Given the description of an element on the screen output the (x, y) to click on. 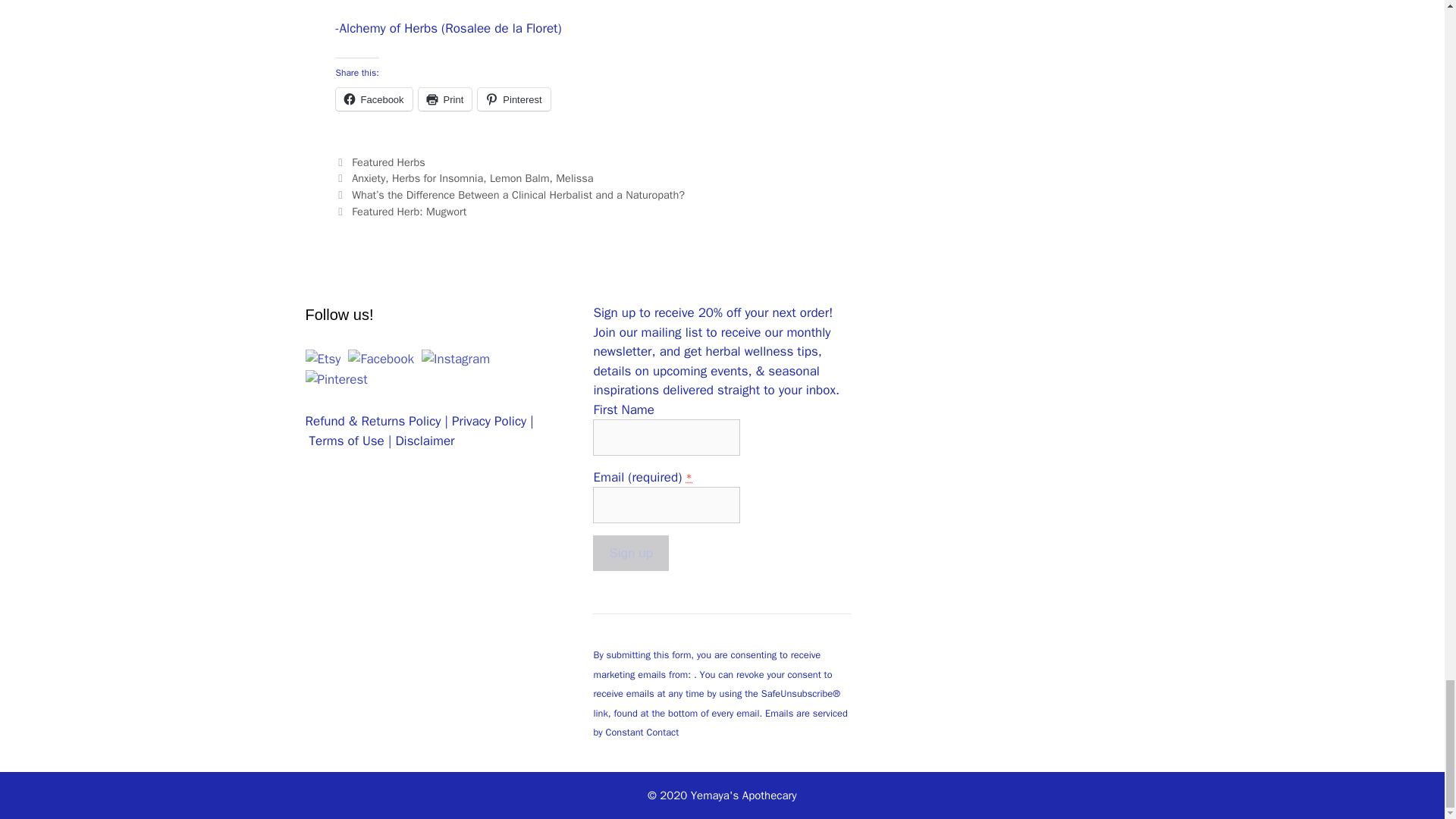
 Instagram (455, 359)
Herbs for Insomnia (437, 178)
Click to share on Pinterest (513, 98)
 Etsy (322, 359)
Lemon Balm (519, 178)
Featured Herbs (388, 161)
Click to print (445, 98)
Sign up (630, 553)
Pinterest (513, 98)
 Facebook (380, 359)
 Pinterest (335, 379)
Anxiety (368, 178)
Print (445, 98)
Click to share on Facebook (373, 98)
Facebook (373, 98)
